Given the description of an element on the screen output the (x, y) to click on. 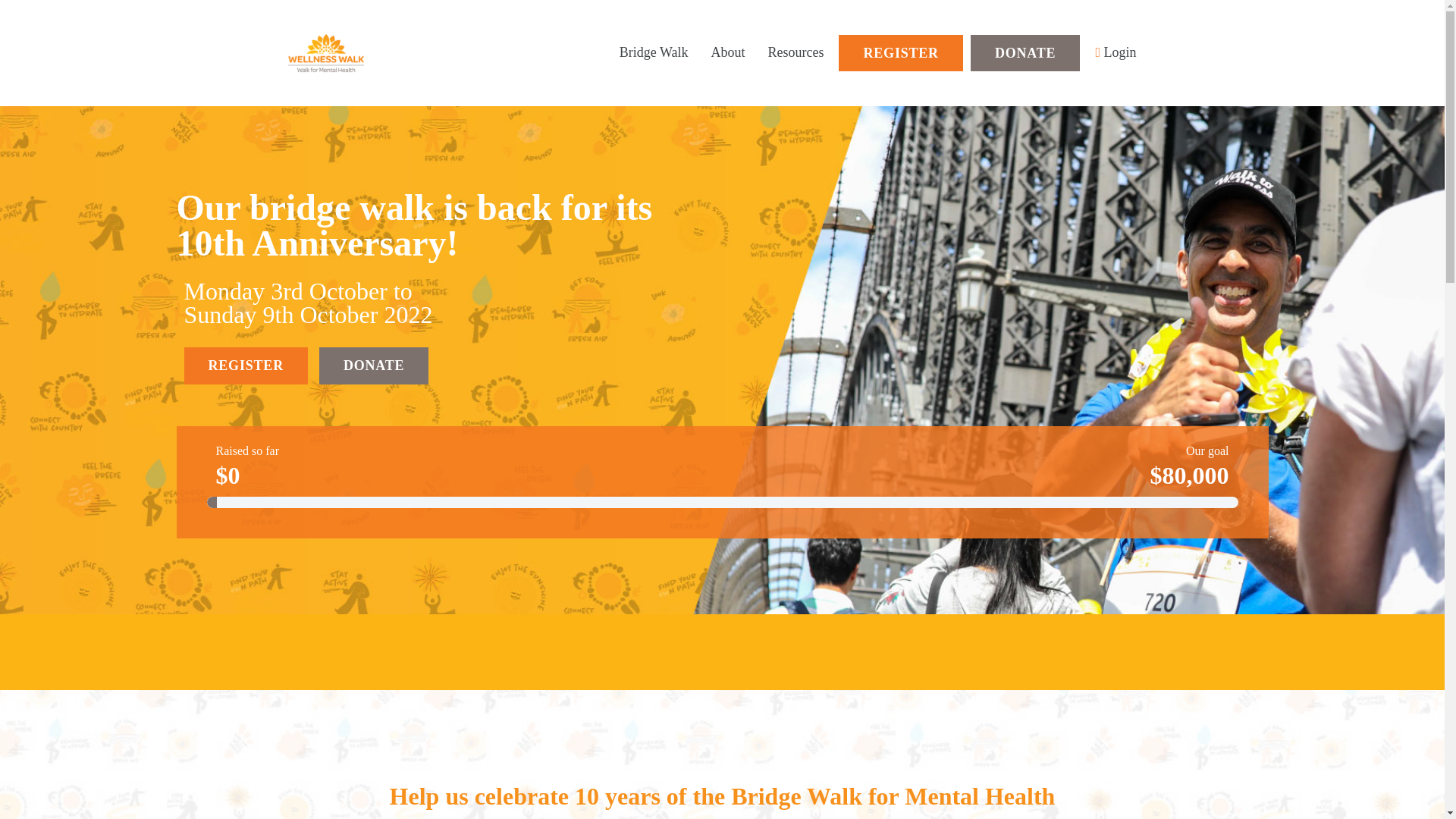
REGISTER (245, 365)
Bridge Walk (654, 52)
DONATE (1025, 53)
DONATE (373, 365)
REGISTER (900, 53)
Login (1115, 52)
About (726, 52)
Resources (796, 52)
